Given the description of an element on the screen output the (x, y) to click on. 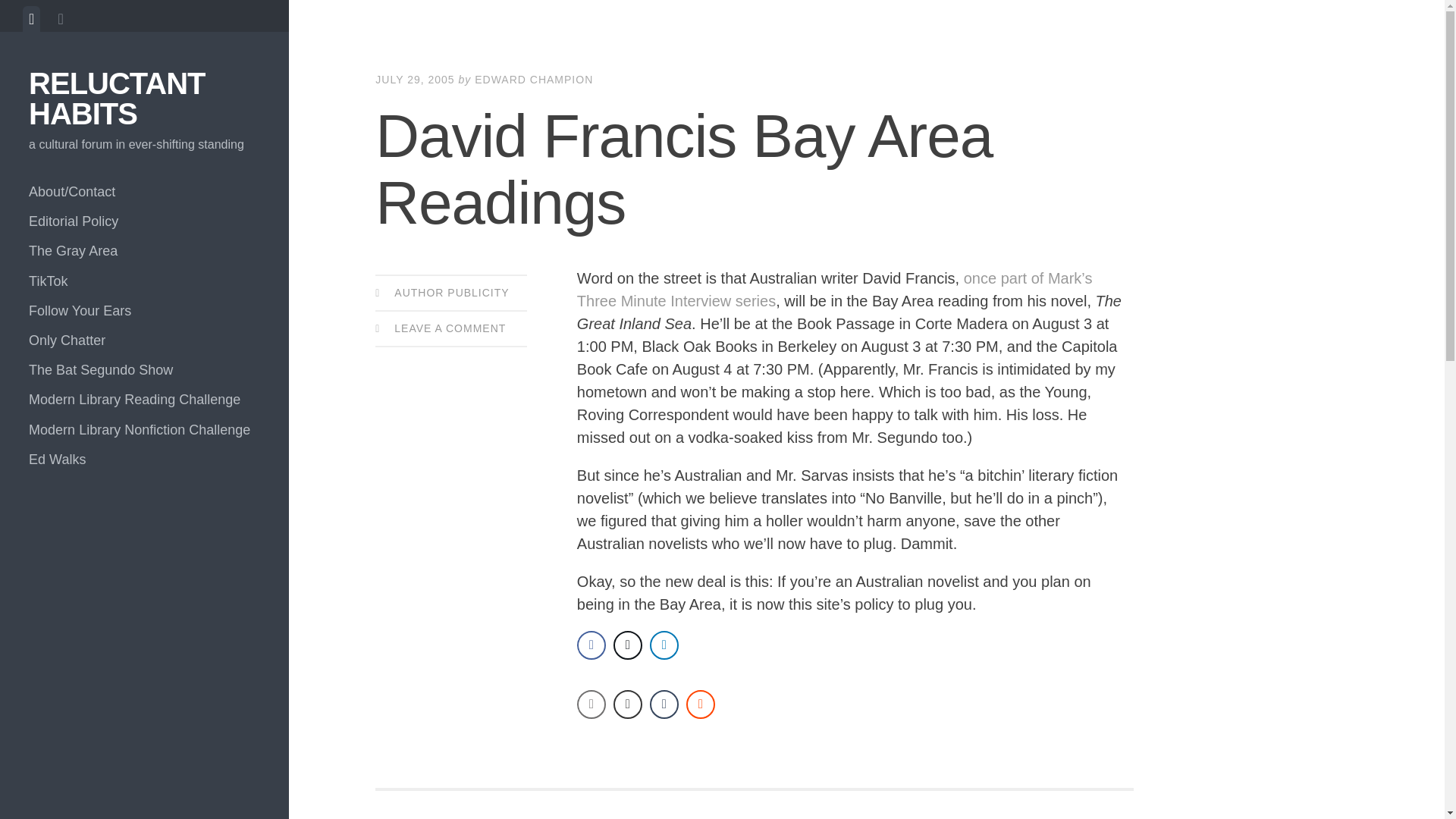
Only Chatter (144, 340)
Ed Walks (144, 460)
The Gray Area (144, 251)
Editorial Policy (144, 221)
TikTok (144, 281)
The Bat Segundo Show (144, 369)
Modern Library Reading Challenge (144, 399)
Modern Library Nonfiction Challenge (144, 430)
RELUCTANT HABITS (117, 98)
Follow Your Ears (144, 310)
